Given the description of an element on the screen output the (x, y) to click on. 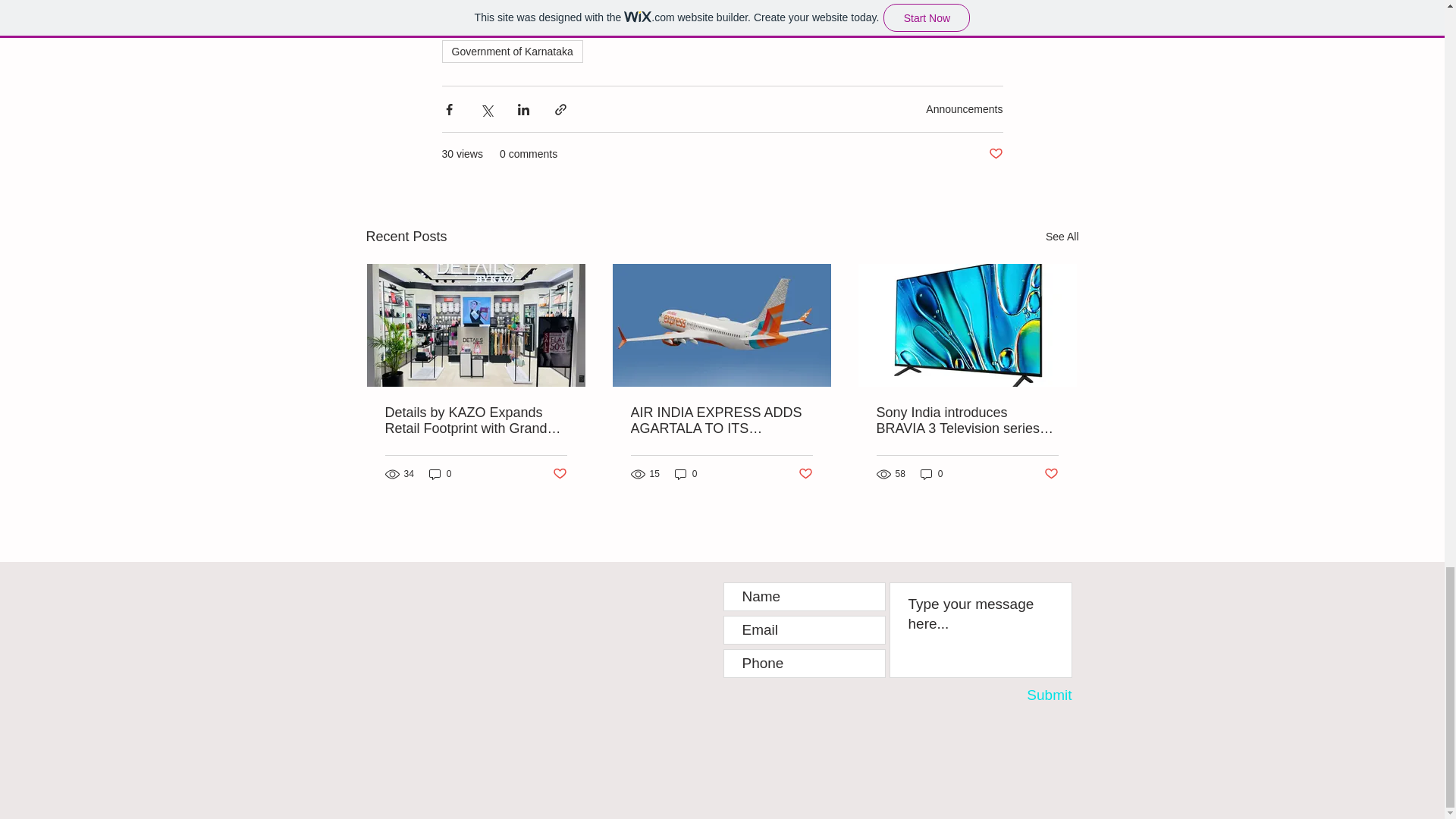
Post not marked as liked (995, 154)
TCS IT wiz (834, 22)
See All (1061, 237)
TCS News (476, 2)
Tata Consultancy Services News (605, 2)
Announcements (964, 109)
TCS IT quiz (915, 22)
Government of Karnataka (511, 51)
